Given the description of an element on the screen output the (x, y) to click on. 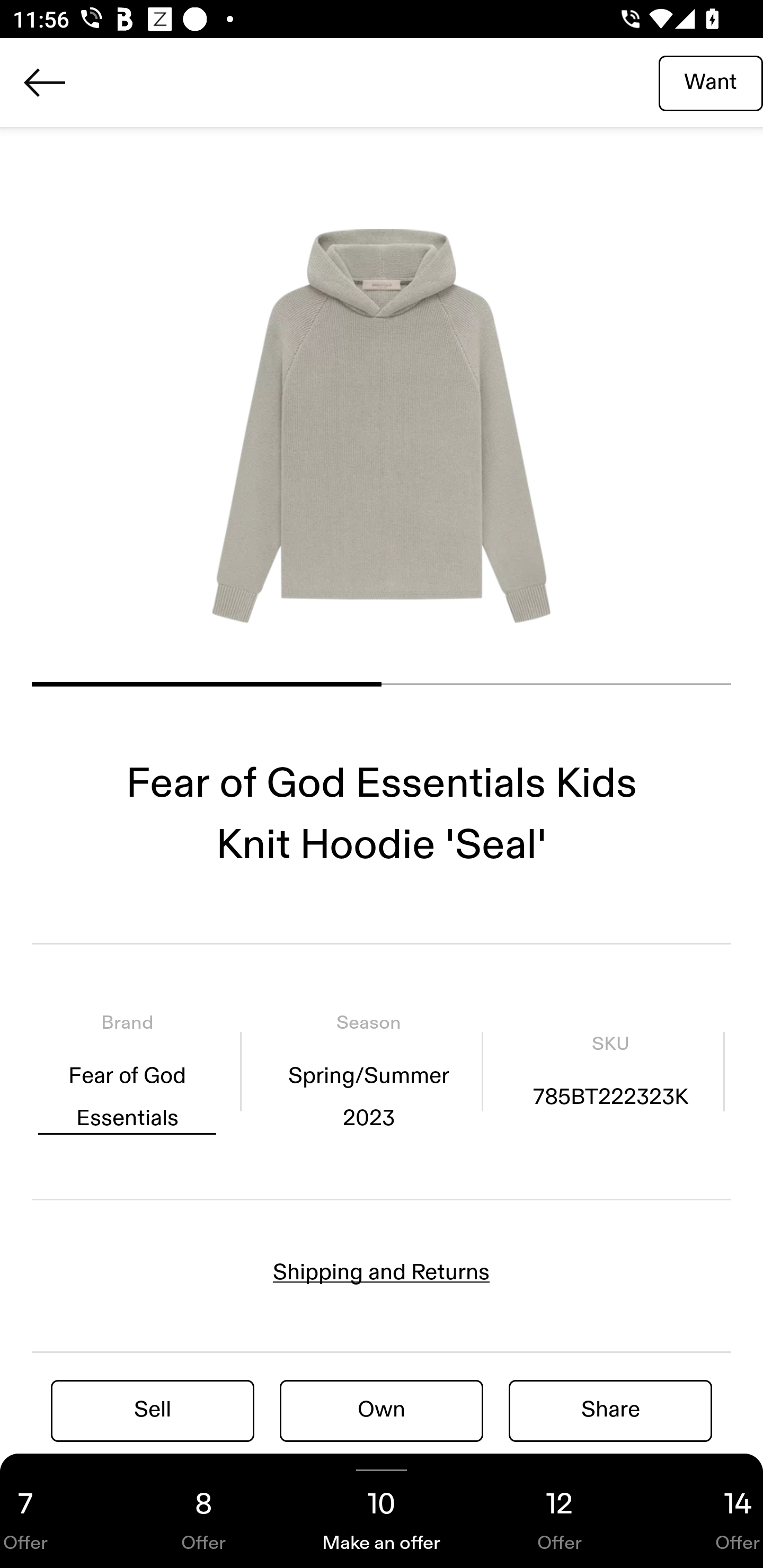
Want (710, 82)
Brand Fear of God Essentials (126, 1070)
Season Spring/Summer 2023 (368, 1070)
SKU 785BT222323K (609, 1070)
Shipping and Returns (381, 1272)
Sell (152, 1410)
Own (381, 1410)
Share (609, 1410)
7 Offer (57, 1510)
8 Offer (203, 1510)
10 Make an offer (381, 1510)
12 Offer (559, 1510)
14 Offer (705, 1510)
